Given the description of an element on the screen output the (x, y) to click on. 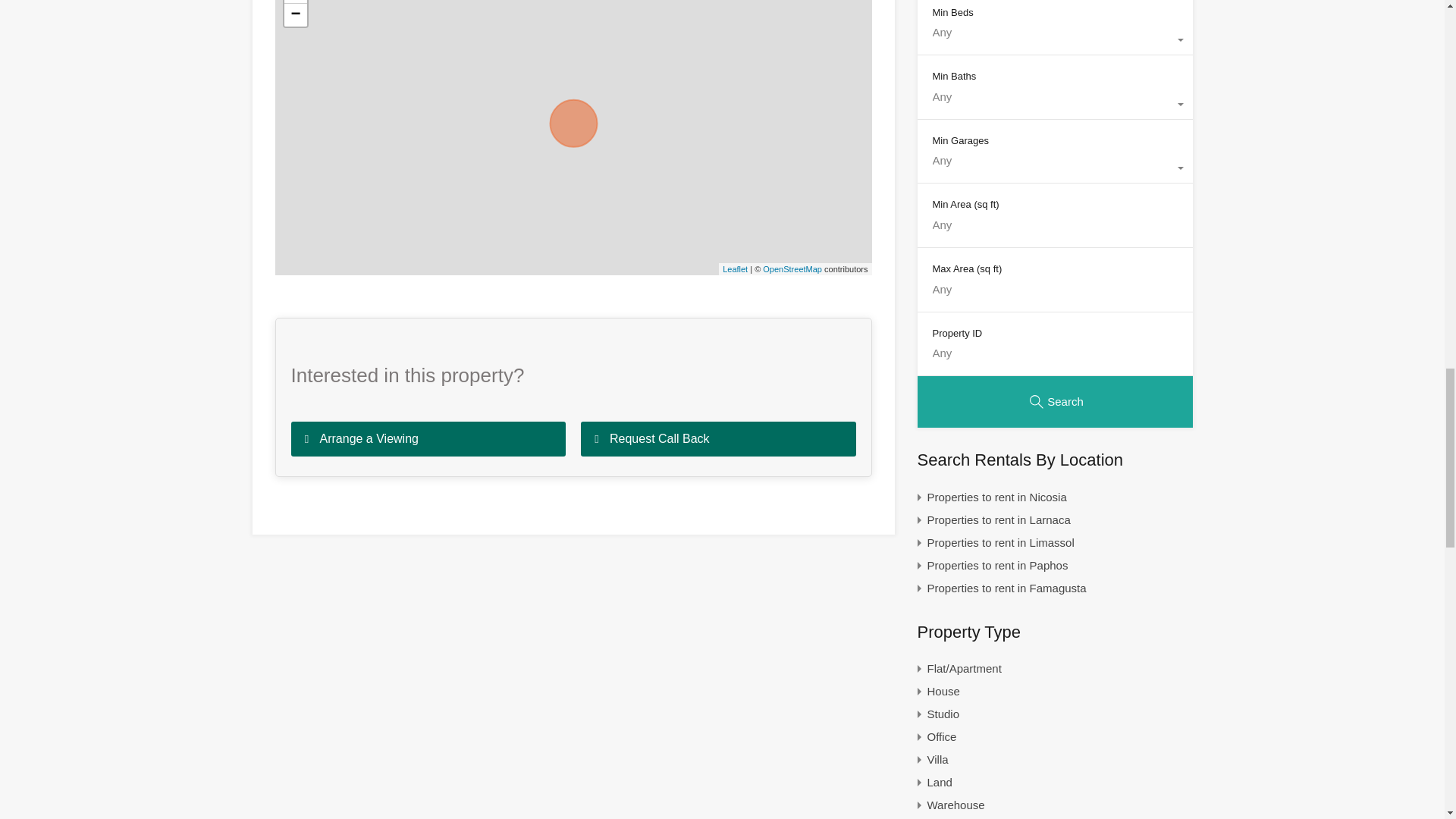
Leaflet (735, 268)
Any (1054, 39)
Only provide digits! (1054, 232)
Any (1054, 167)
Zoom out (294, 15)
Any (1054, 104)
A JS library for interactive maps (735, 268)
Zoom in (294, 2)
OpenStreetMap (792, 268)
